Given the description of an element on the screen output the (x, y) to click on. 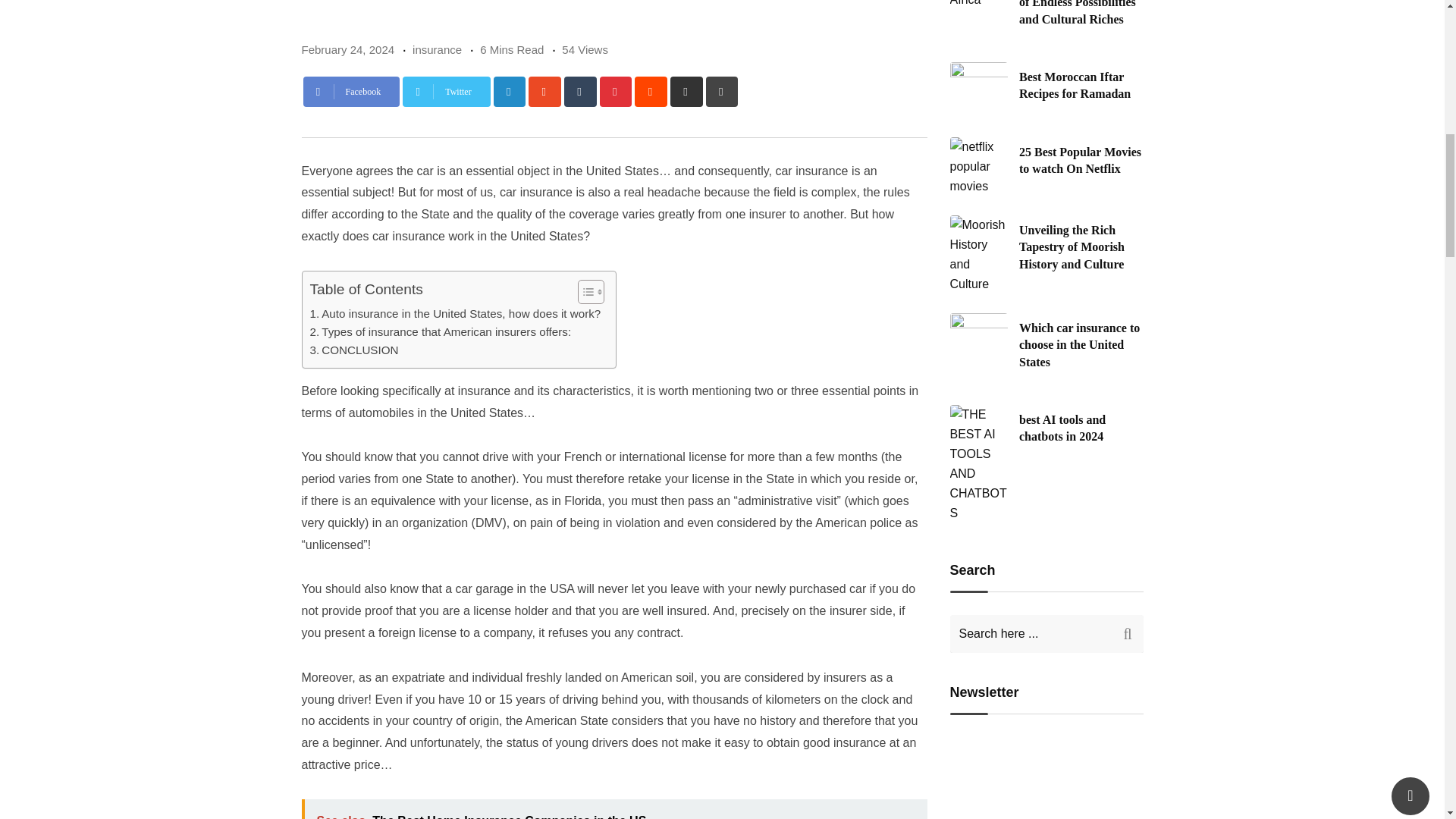
Auto insurance in the United States, how does it work? (453, 313)
25 Best Popular Movies to watch On Netflix (978, 166)
CONCLUSION  (352, 350)
Types of insurance that American insurers offers: (439, 331)
Best Moroccan Iftar Recipes for Ramadan (978, 88)
Which car insurance to choose in the United States (978, 338)
